Given the description of an element on the screen output the (x, y) to click on. 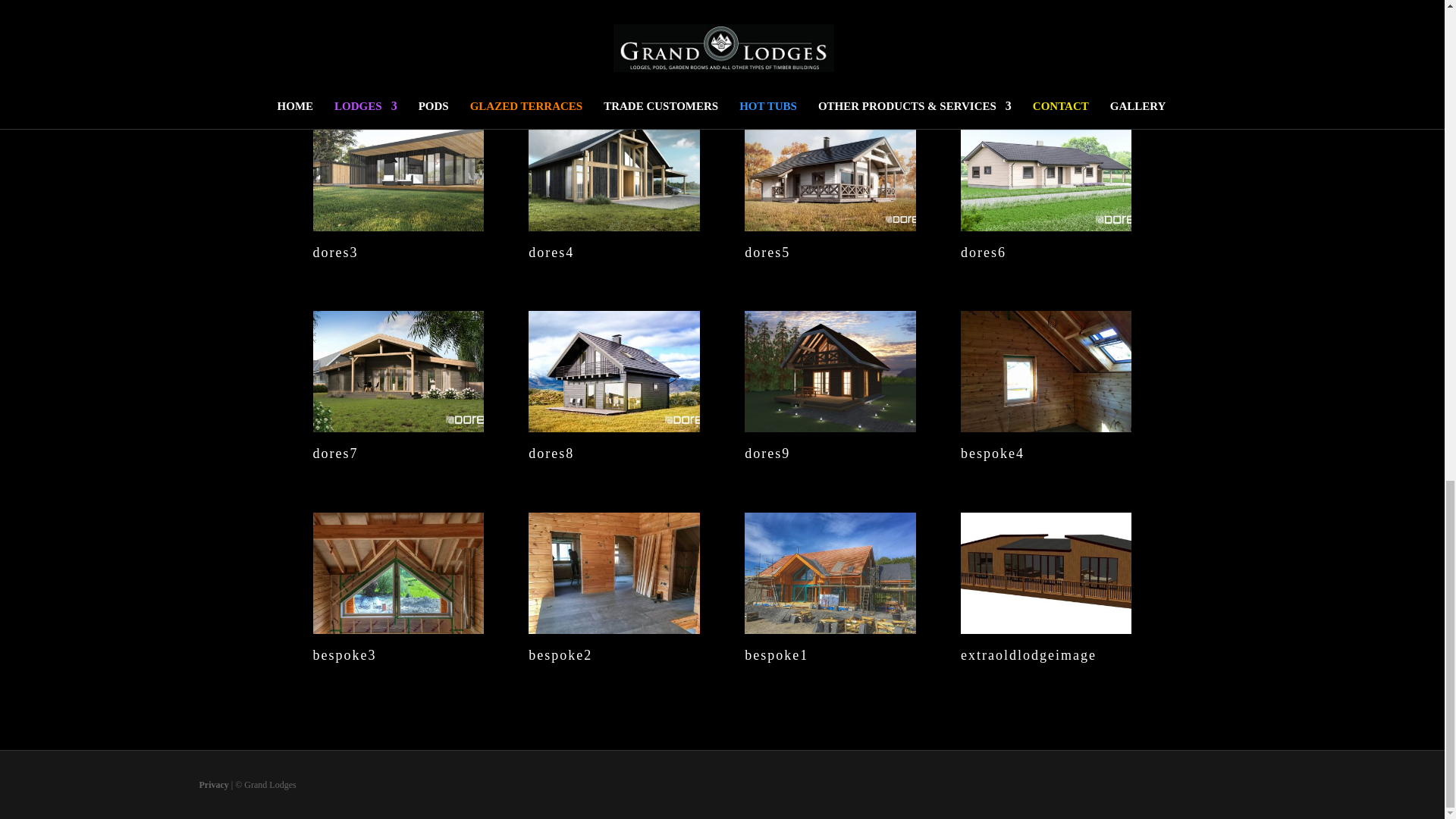
dores7 (398, 425)
dores4 (613, 225)
bespoke4 (1045, 425)
extraoldlodgeimage (1045, 628)
dores5 (829, 225)
dores6 (1045, 225)
bespoke1 (829, 628)
dores3 (398, 225)
bespoke3 (398, 628)
bespoke2 (613, 628)
dores9 (829, 425)
dores8 (613, 425)
